Given the description of an element on the screen output the (x, y) to click on. 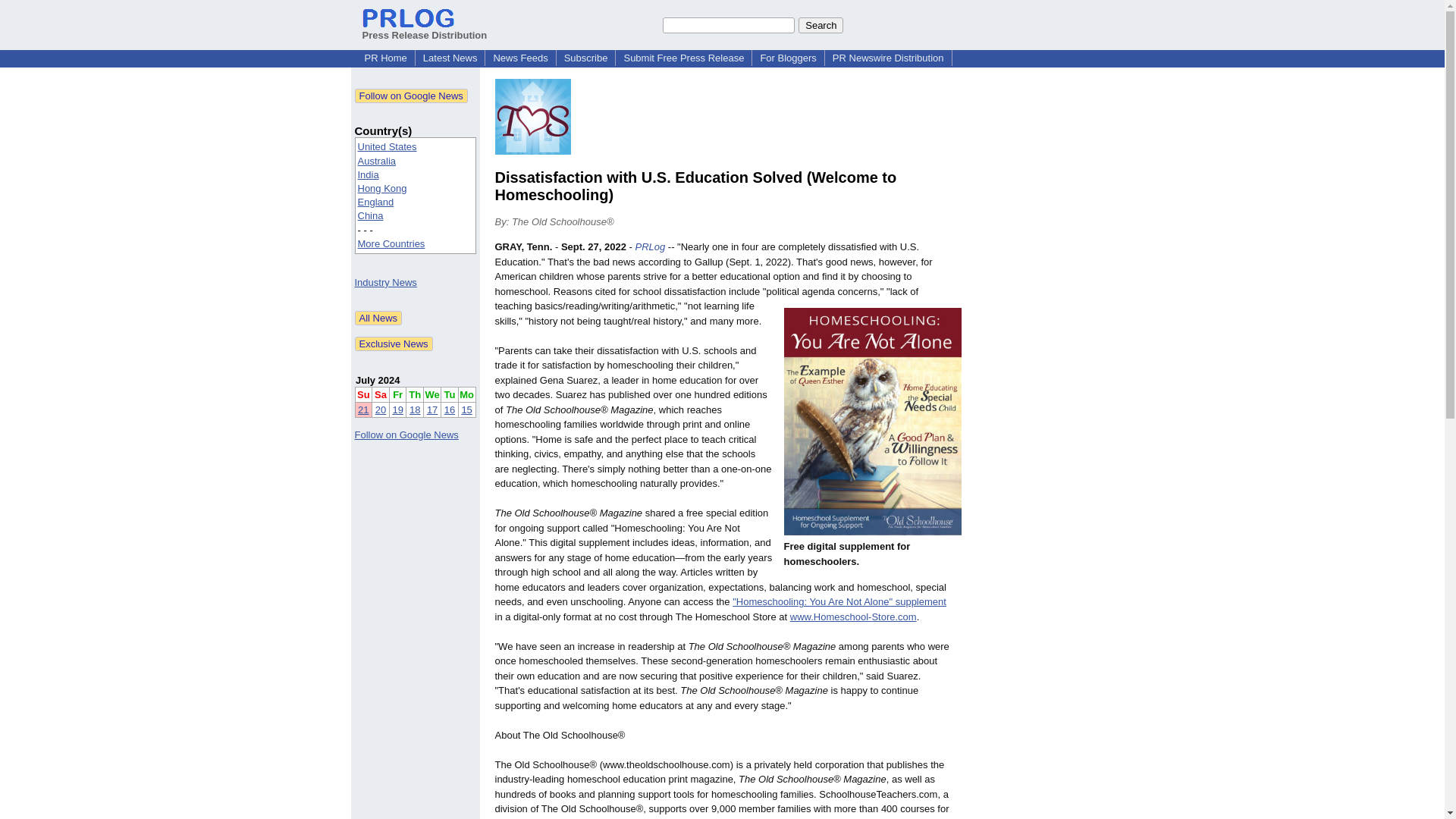
19 (397, 409)
More Countries (391, 243)
www.Homeschool-Store.com (853, 616)
News Feeds (519, 57)
21 (363, 409)
PR Home (385, 57)
15 (466, 409)
Exclusive News (393, 343)
16 (449, 409)
17 (432, 409)
Follow on Google News (411, 95)
Subscribe (585, 57)
Industry News (385, 282)
Submit Free Press Release (683, 57)
Follow on Google News (406, 434)
